Given the description of an element on the screen output the (x, y) to click on. 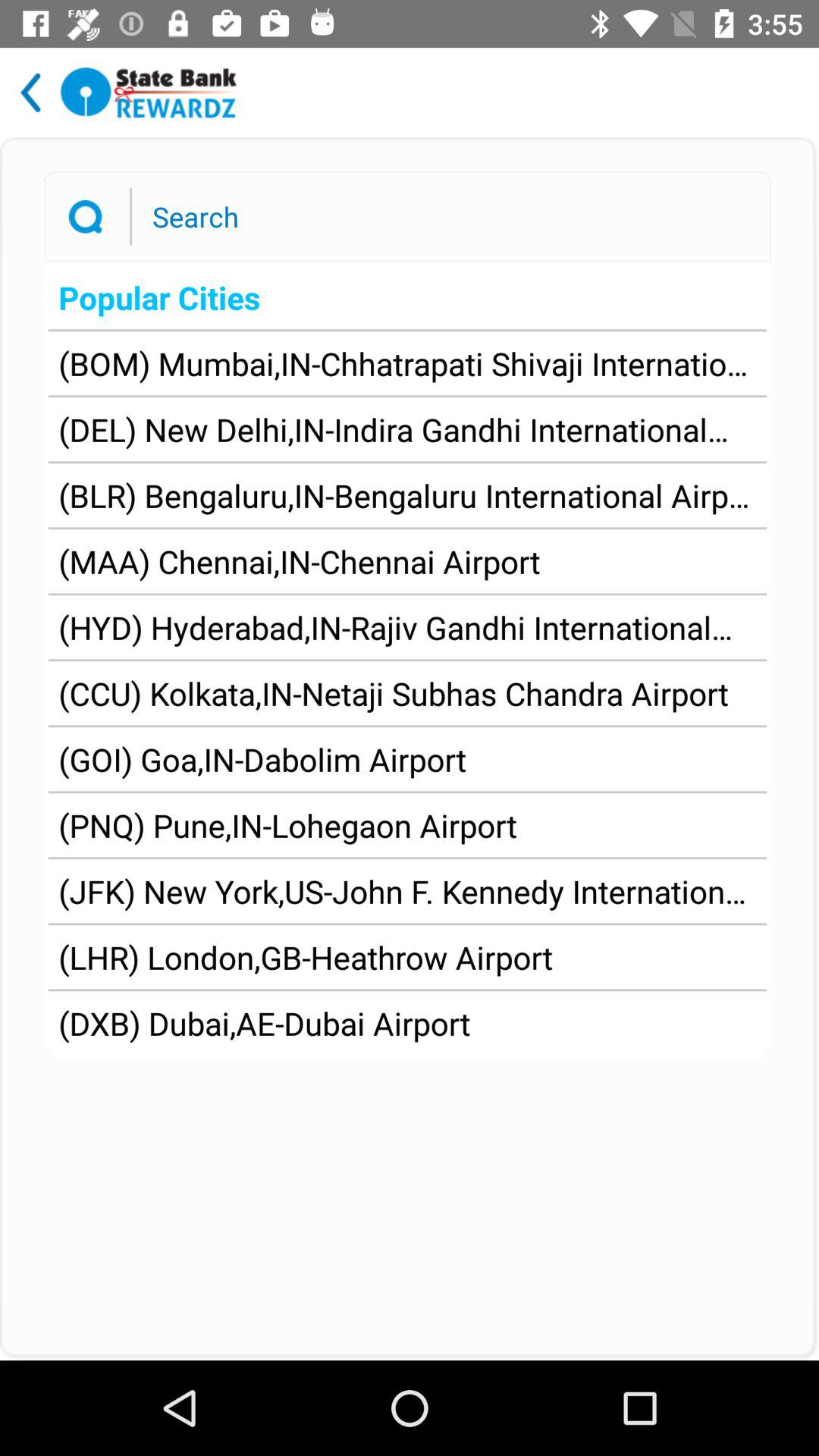
text field to enter a search (444, 216)
